Given the description of an element on the screen output the (x, y) to click on. 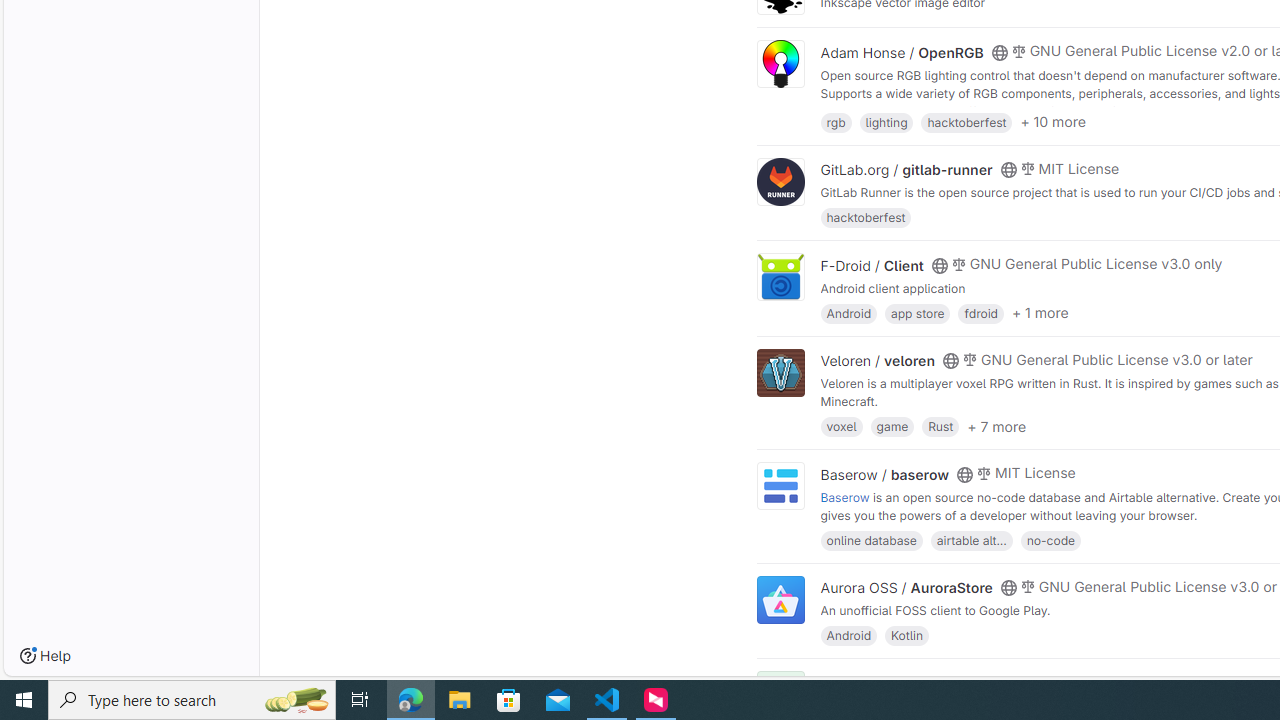
Veloren / veloren (877, 361)
+ 7 more (996, 425)
airtable alt... (971, 539)
Adam Honse / OpenRGB (902, 52)
Android (848, 634)
Edouard Klein / falsisign (902, 682)
F-Droid / Client (872, 265)
Kotlin (907, 634)
hacktoberfest (866, 217)
online database (871, 539)
Aurora OSS / AuroraStore (906, 587)
voxel (841, 426)
game (892, 426)
GitLab.org / gitlab-runner (906, 170)
F (780, 695)
